Given the description of an element on the screen output the (x, y) to click on. 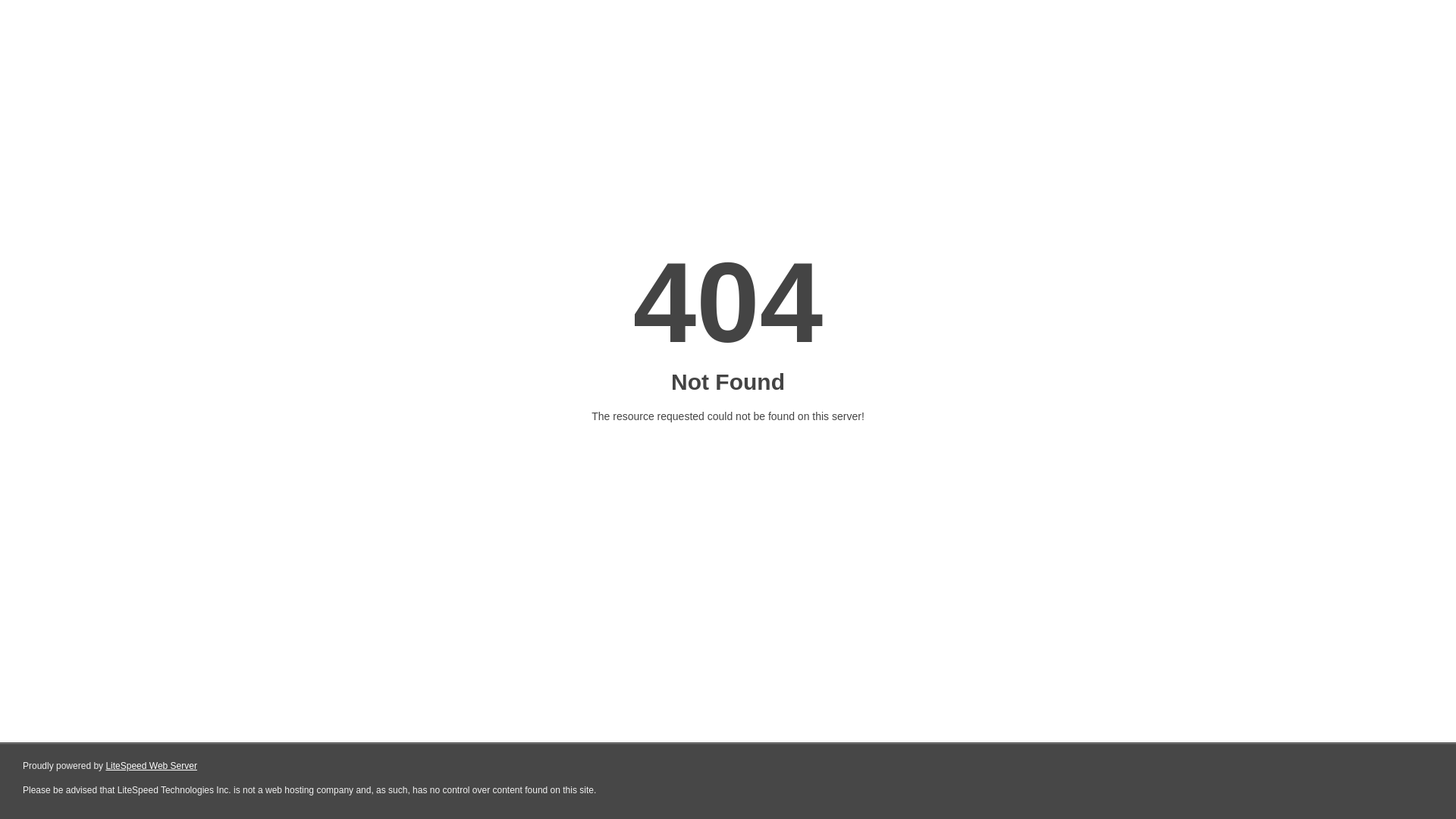
LiteSpeed Web Server Element type: text (151, 765)
